Given the description of an element on the screen output the (x, y) to click on. 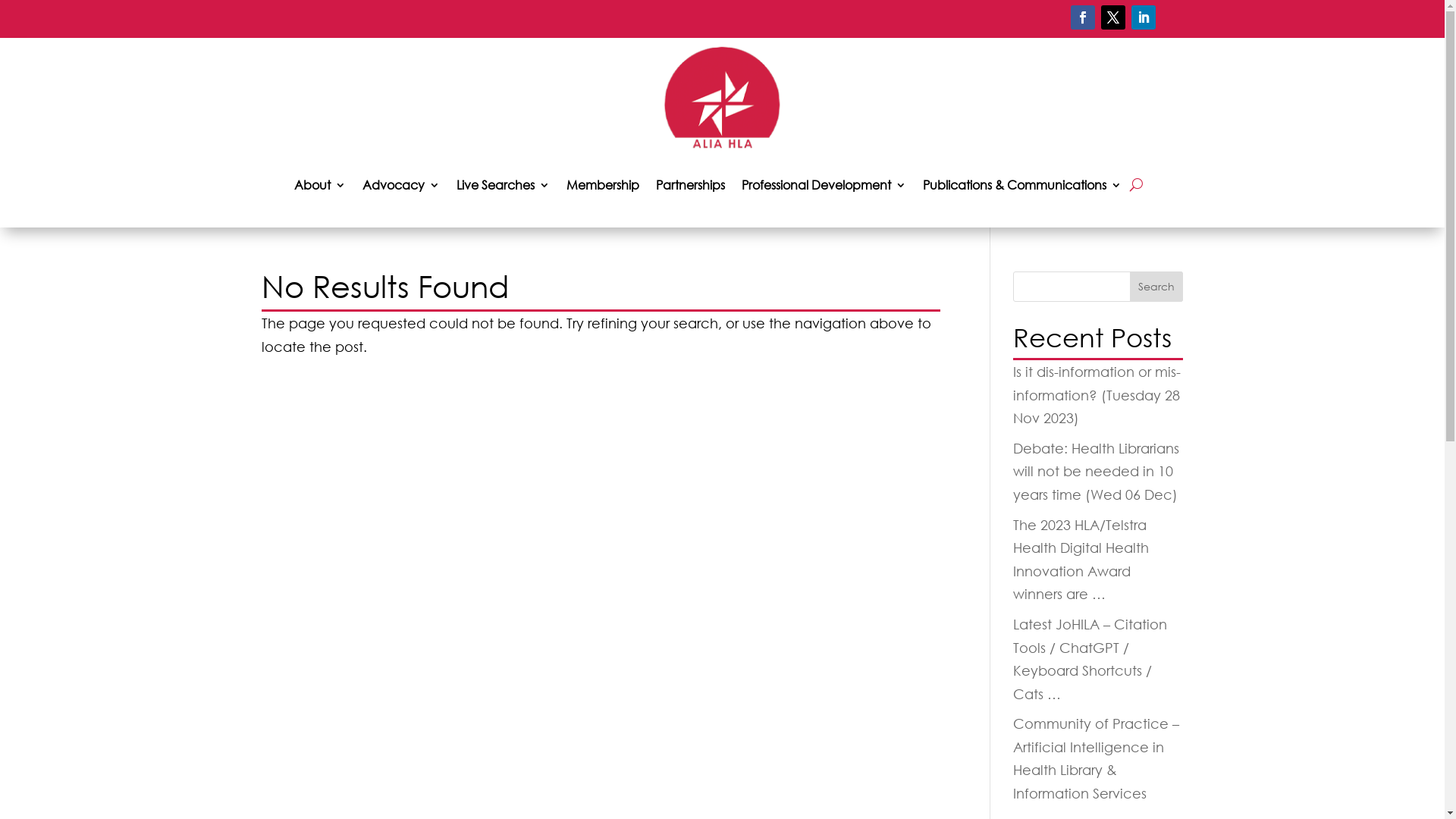
Live Searches Element type: text (502, 184)
Follow on Facebook Element type: hover (1082, 17)
Publications & Communications Element type: text (1021, 184)
Professional Development Element type: text (823, 184)
Search Element type: text (1156, 286)
Follow on X Element type: hover (1113, 17)
Partnerships Element type: text (689, 184)
About Element type: text (319, 184)
Follow on LinkedIn Element type: hover (1143, 17)
Membership Element type: text (601, 184)
Advocacy Element type: text (400, 184)
